Given the description of an element on the screen output the (x, y) to click on. 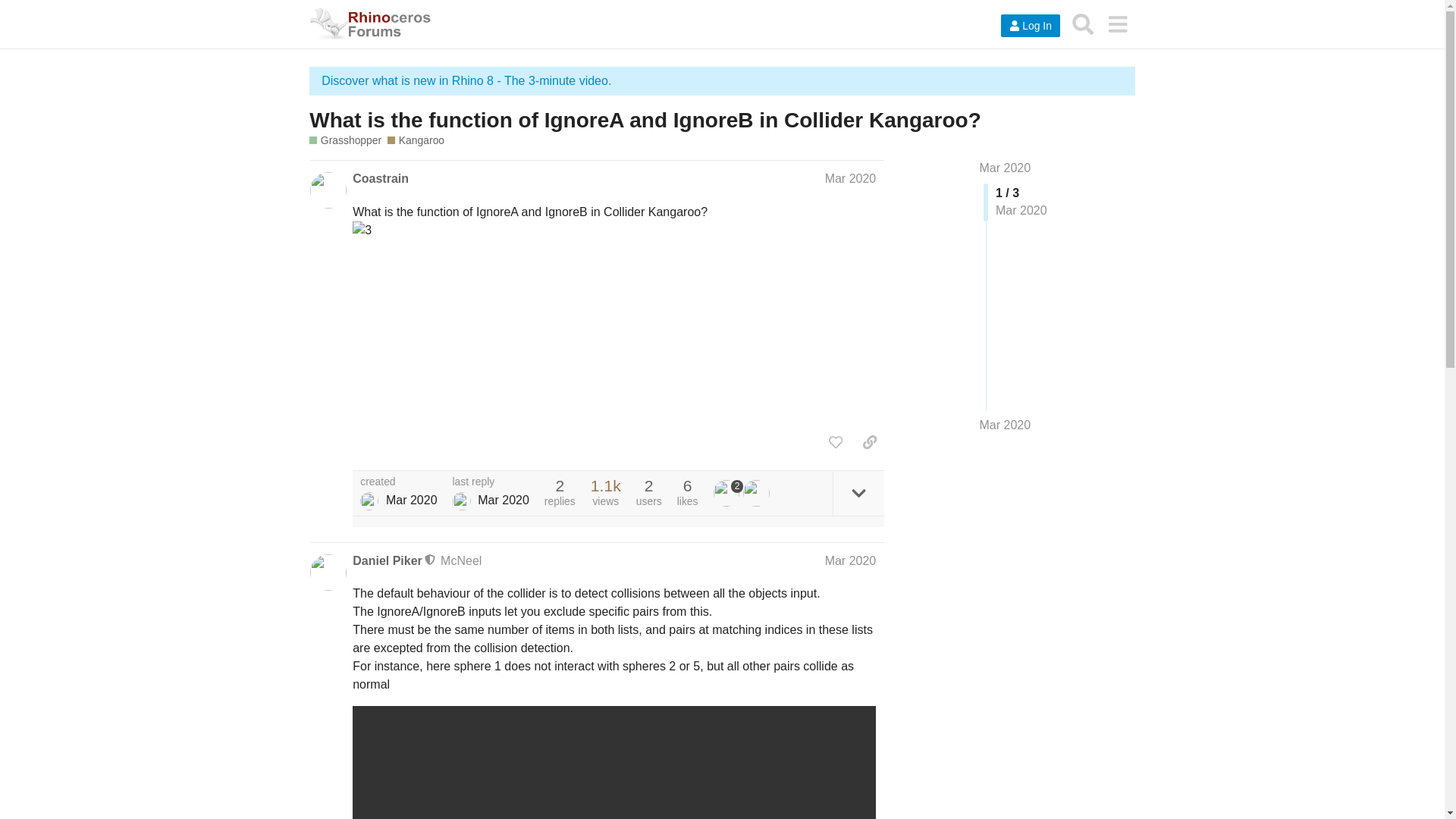
Log In (1030, 25)
last reply (490, 481)
2 (728, 492)
Mar 13, 2020 1:44 pm (503, 499)
Jump to the first post (1004, 167)
Coastrain (368, 501)
Daniel Piker (387, 560)
copy a link to this post to clipboard (869, 442)
Grasshopper (344, 140)
Mar 11, 2020 3:13 pm (411, 499)
Kangaroo (415, 140)
Mar 2020 (1004, 425)
Add a new topic to this category related to Grasshopper. (344, 140)
Search (1082, 23)
